Given the description of an element on the screen output the (x, y) to click on. 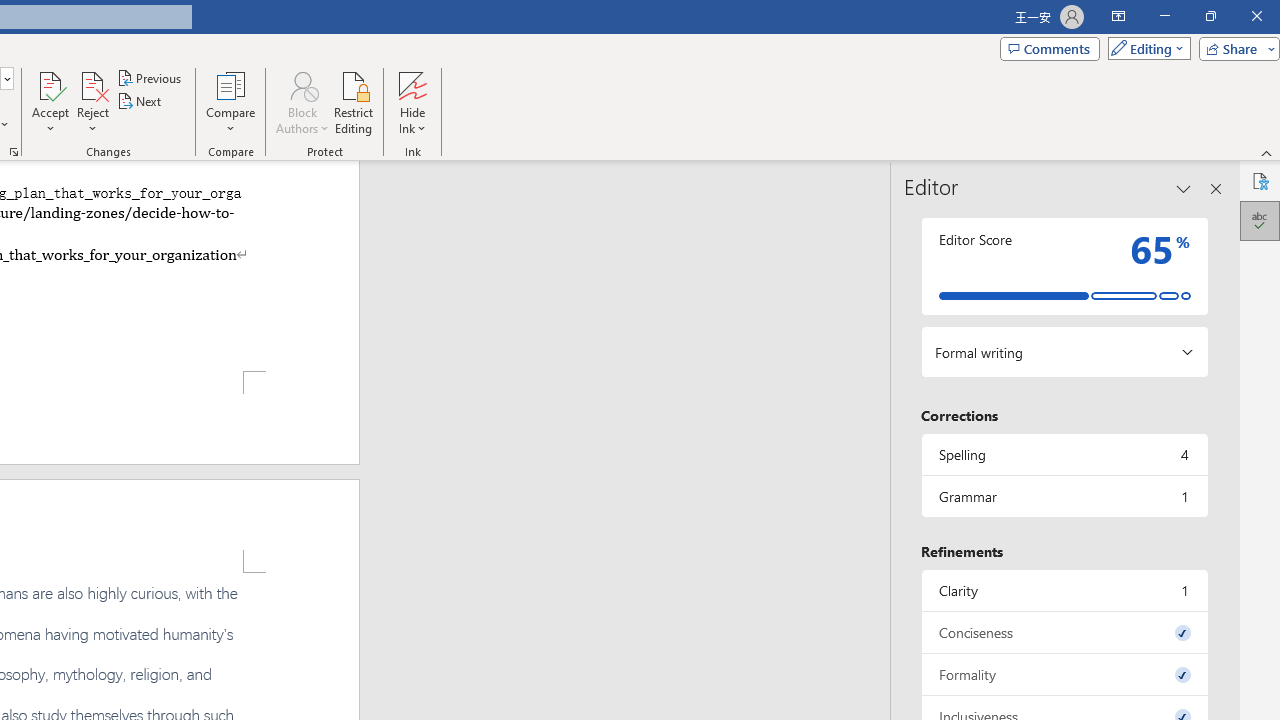
More Options (412, 121)
Previous (150, 78)
Block Authors (302, 102)
Grammar, 1 issue. Press space or enter to review items. (1064, 495)
Accessibility (1260, 180)
Reject (92, 102)
Formality, 0 issues. Press space or enter to review items. (1064, 673)
Conciseness, 0 issues. Press space or enter to review items. (1064, 632)
Comments (1049, 48)
Change Tracking Options... (13, 151)
Compare (230, 102)
Open (6, 78)
Editing (1144, 47)
Reject and Move to Next (92, 84)
